Given the description of an element on the screen output the (x, y) to click on. 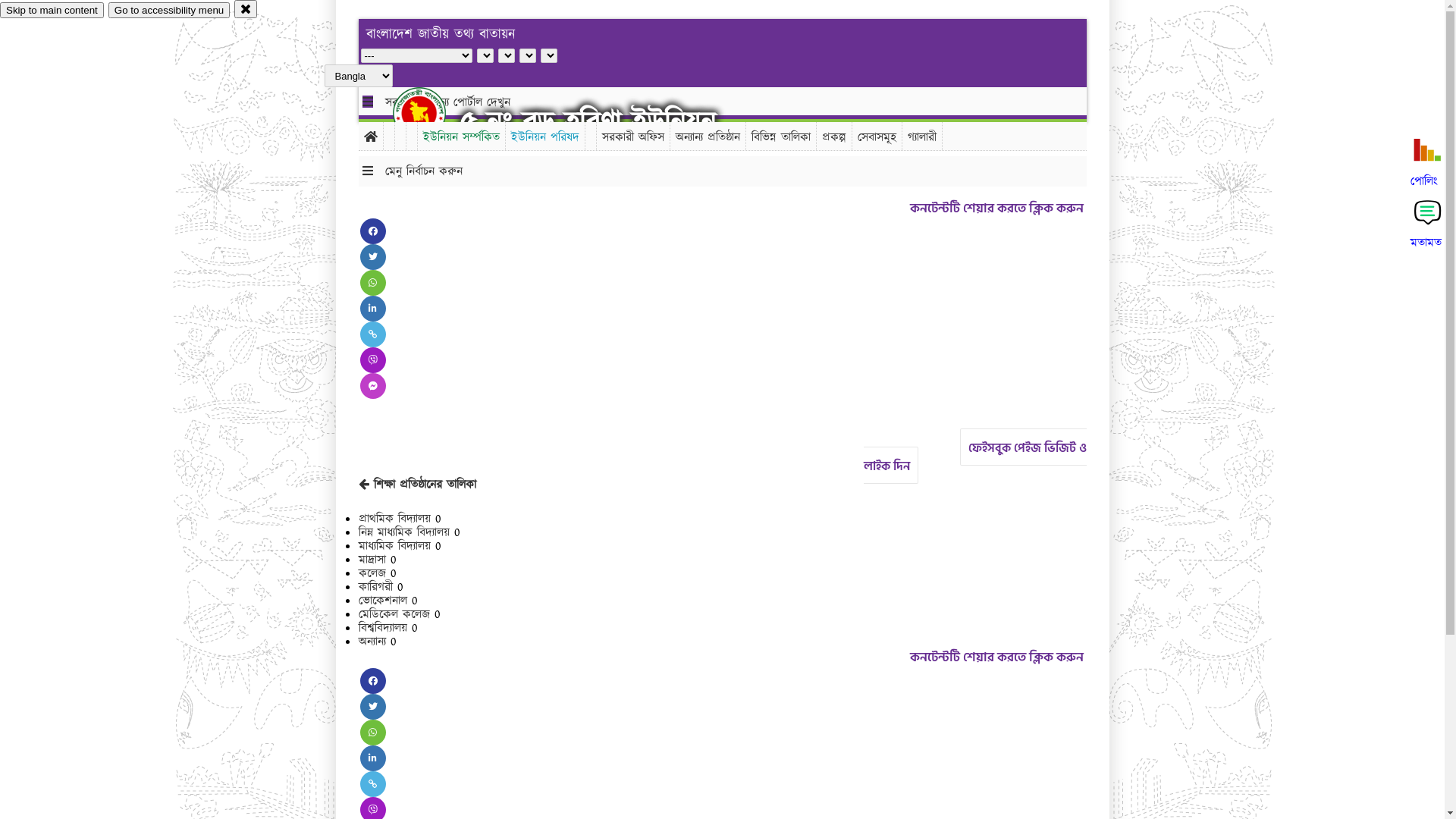
Go to accessibility menu Element type: text (168, 10)
close Element type: hover (245, 9)
Skip to main content Element type: text (51, 10)

                
             Element type: hover (431, 112)
